Given the description of an element on the screen output the (x, y) to click on. 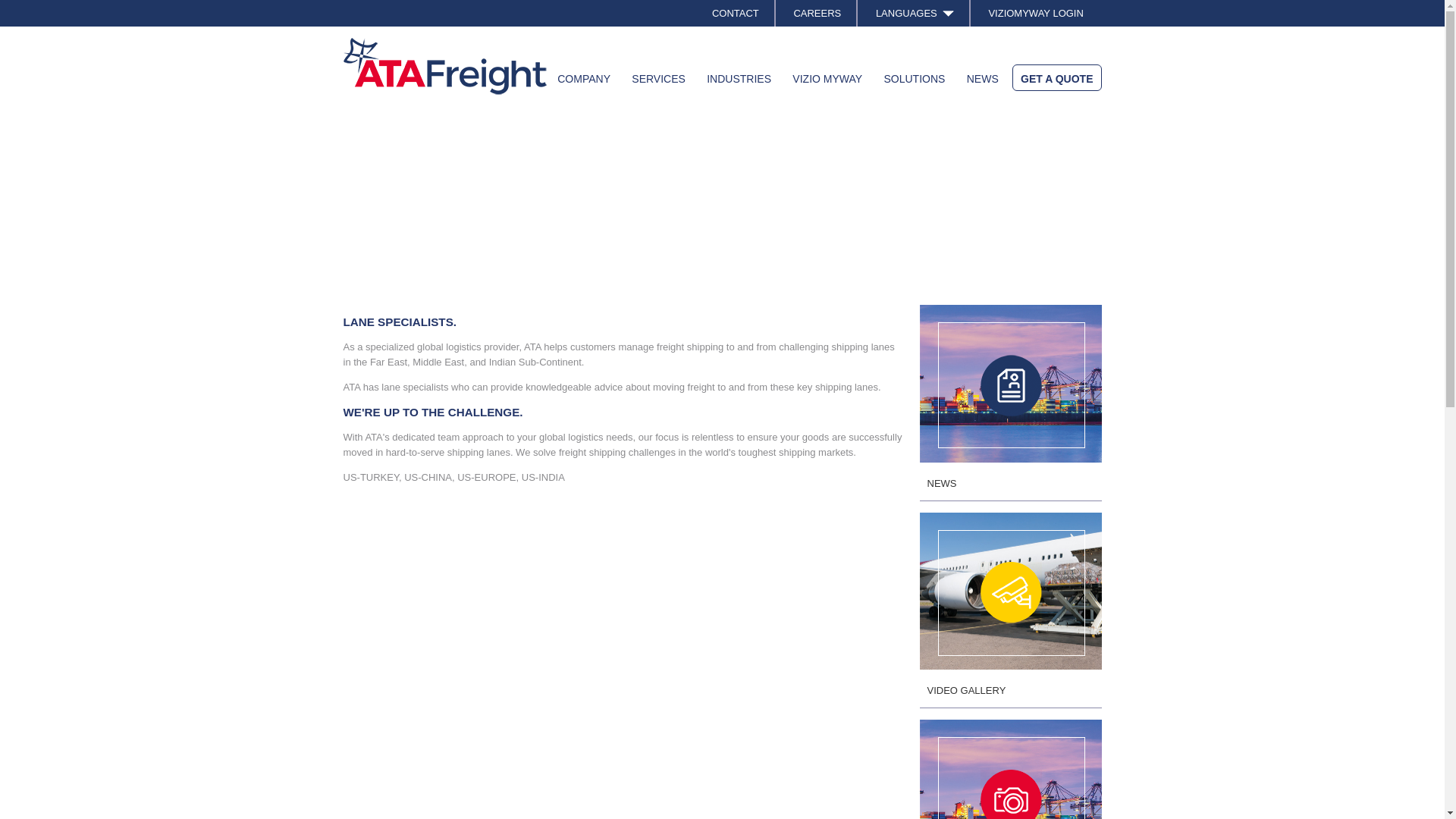
CONTACT (736, 13)
VIZIOMYWAY LOGIN (1034, 13)
CAREERS (817, 13)
LANGUAGES (915, 13)
